Given the description of an element on the screen output the (x, y) to click on. 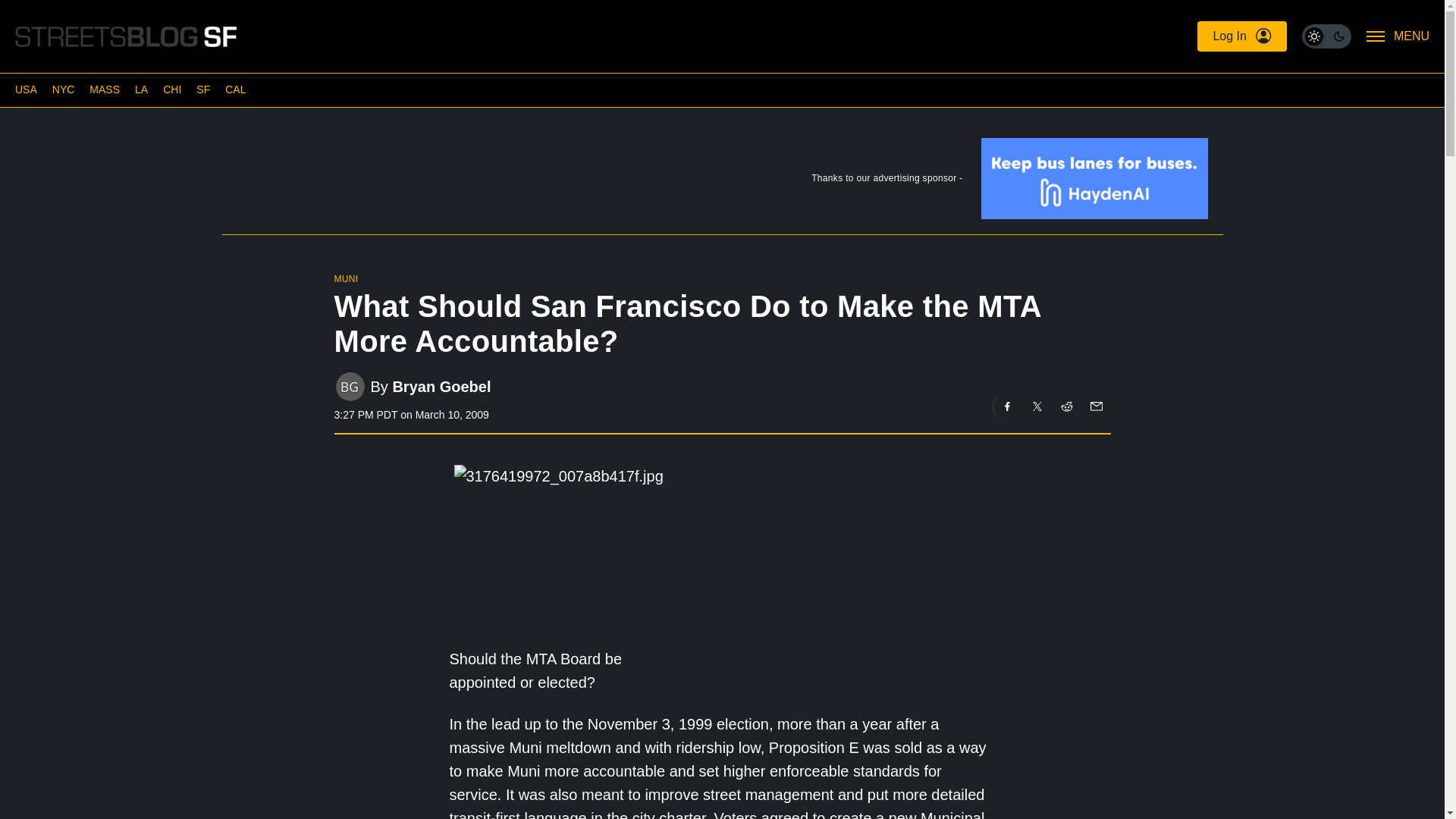
Share on Reddit (1066, 406)
NYC (63, 89)
CAL (235, 89)
MUNI (345, 278)
Thanks to our advertising sponsor - (721, 181)
Share on Facebook (1007, 406)
MASS (103, 89)
Share on Email (1095, 406)
Bryan Goebel (440, 386)
USA (25, 89)
